Given the description of an element on the screen output the (x, y) to click on. 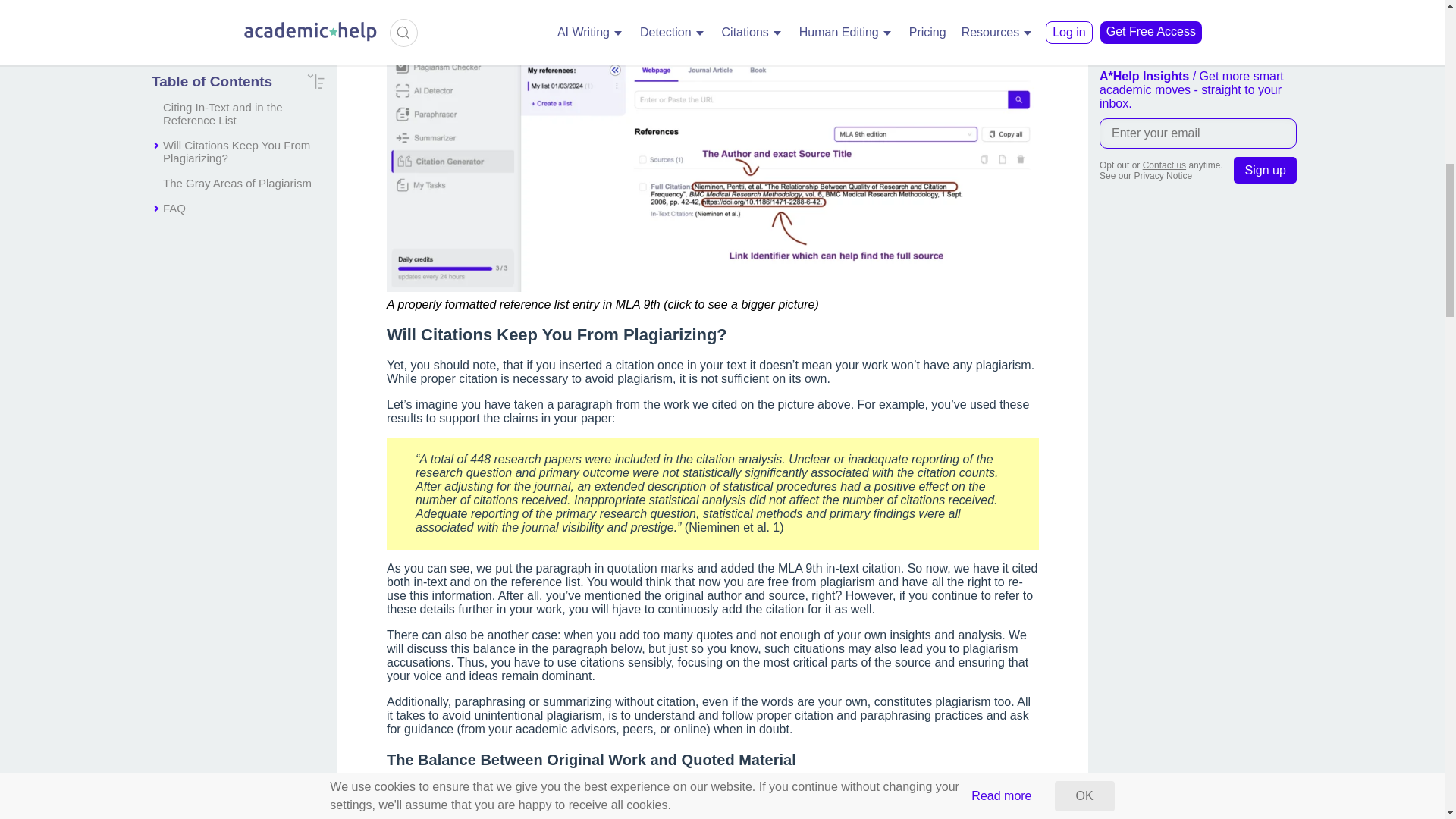
Sign up (1265, 170)
